Given the description of an element on the screen output the (x, y) to click on. 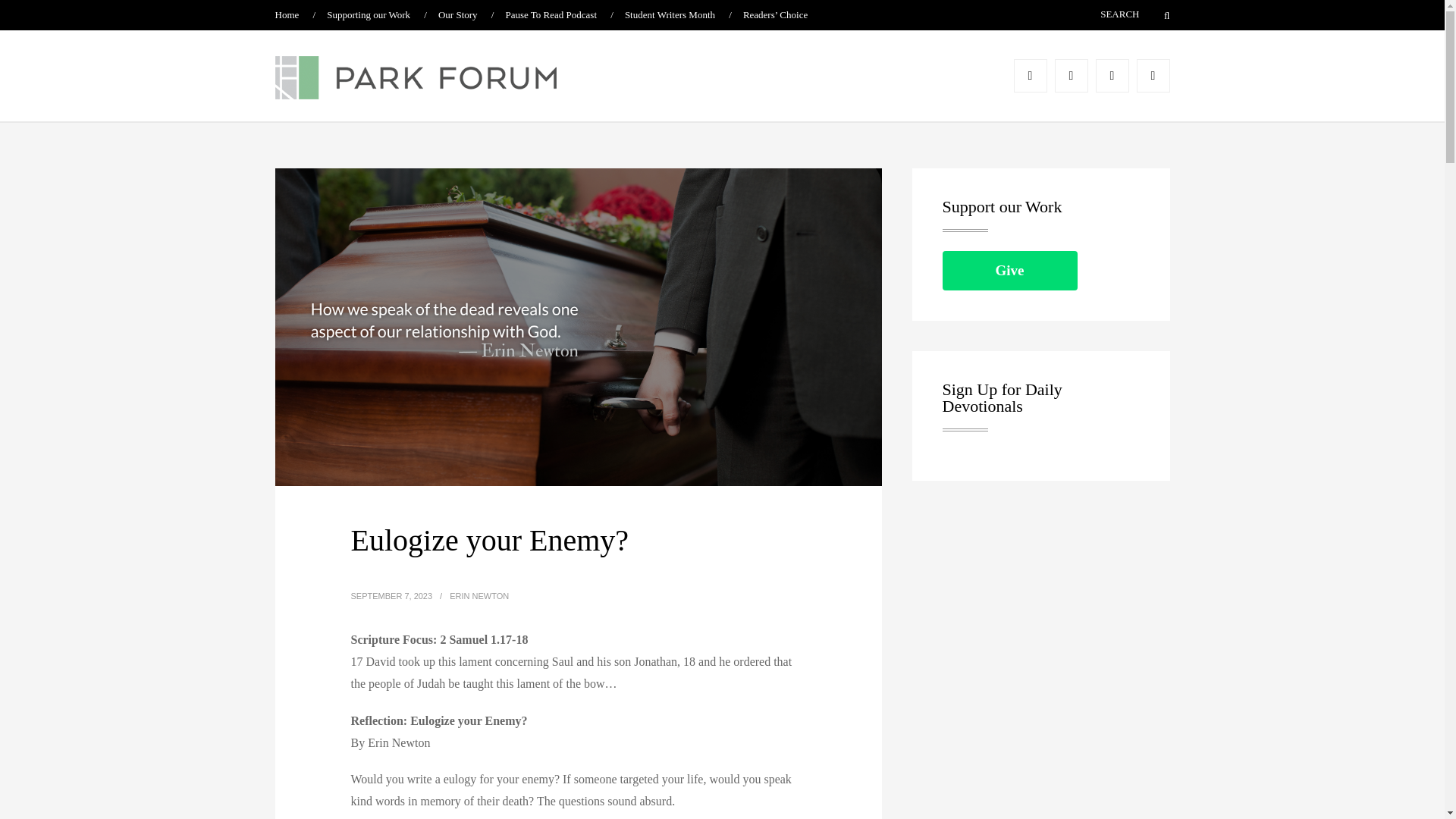
Search (1158, 15)
SEARCH (1096, 14)
Our Story (457, 14)
Home (286, 14)
Pause To Read Podcast (550, 14)
Student Writers Month (669, 14)
Eulogize your Enemy? (489, 540)
Supporting our Work (368, 14)
